Given the description of an element on the screen output the (x, y) to click on. 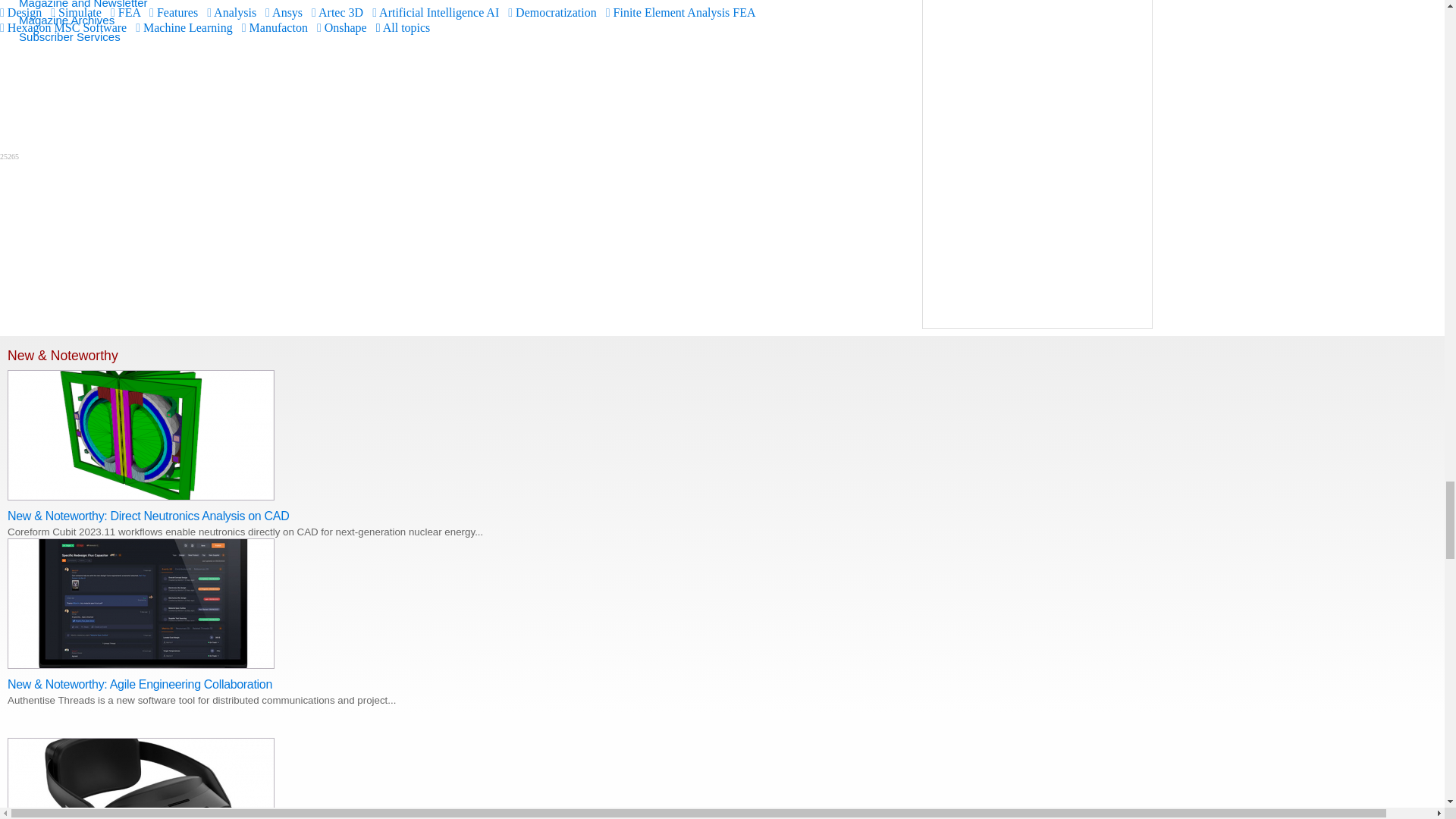
Ansys (283, 11)
Artificial Intelligence AI (435, 11)
Manufacton (274, 27)
Finite Element Analysis FEA (680, 11)
Artec 3D (336, 11)
Analysis (231, 11)
Hexagon MSC Software (63, 27)
Democratization (551, 11)
Machine Learning (183, 27)
